Given the description of an element on the screen output the (x, y) to click on. 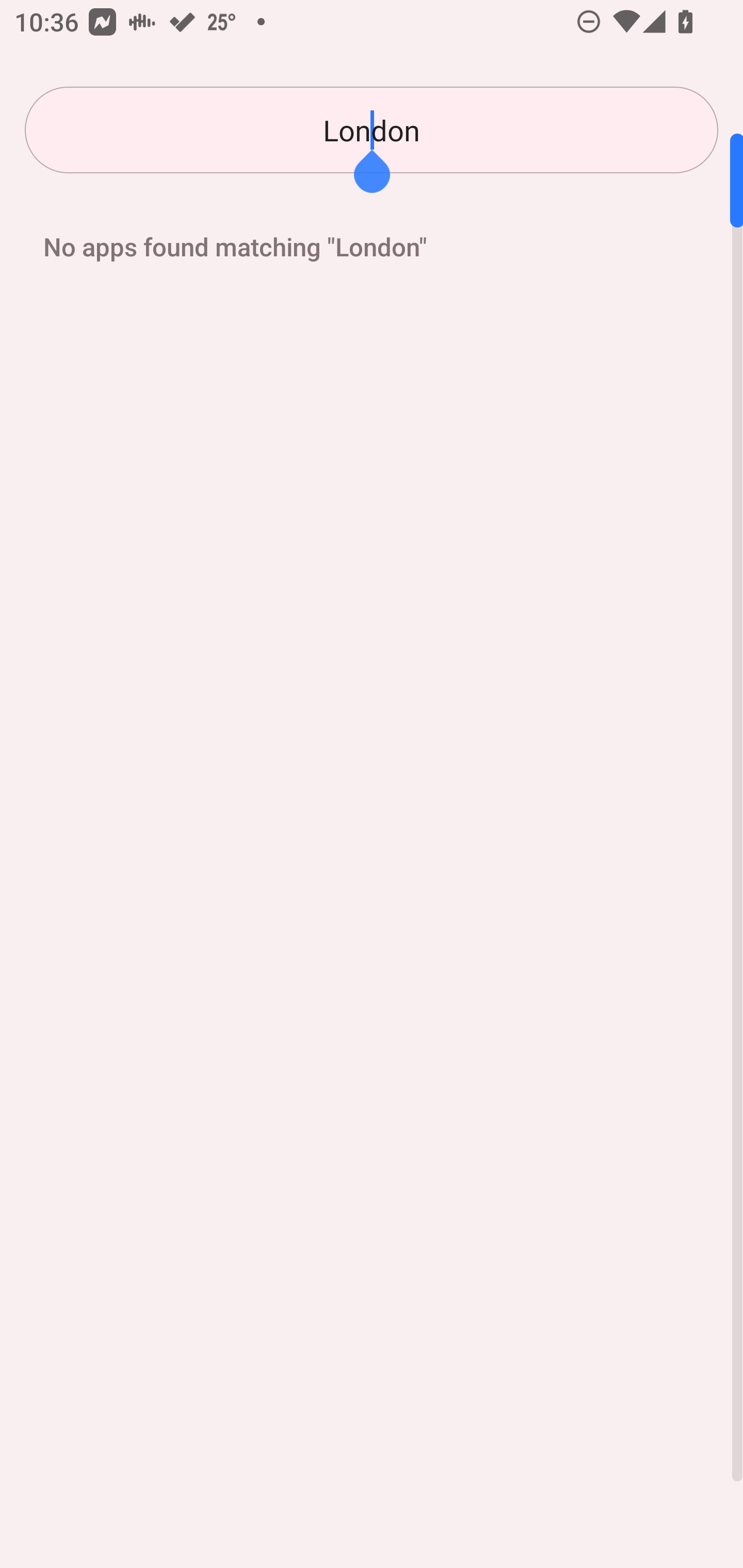
London (371, 130)
